Given the description of an element on the screen output the (x, y) to click on. 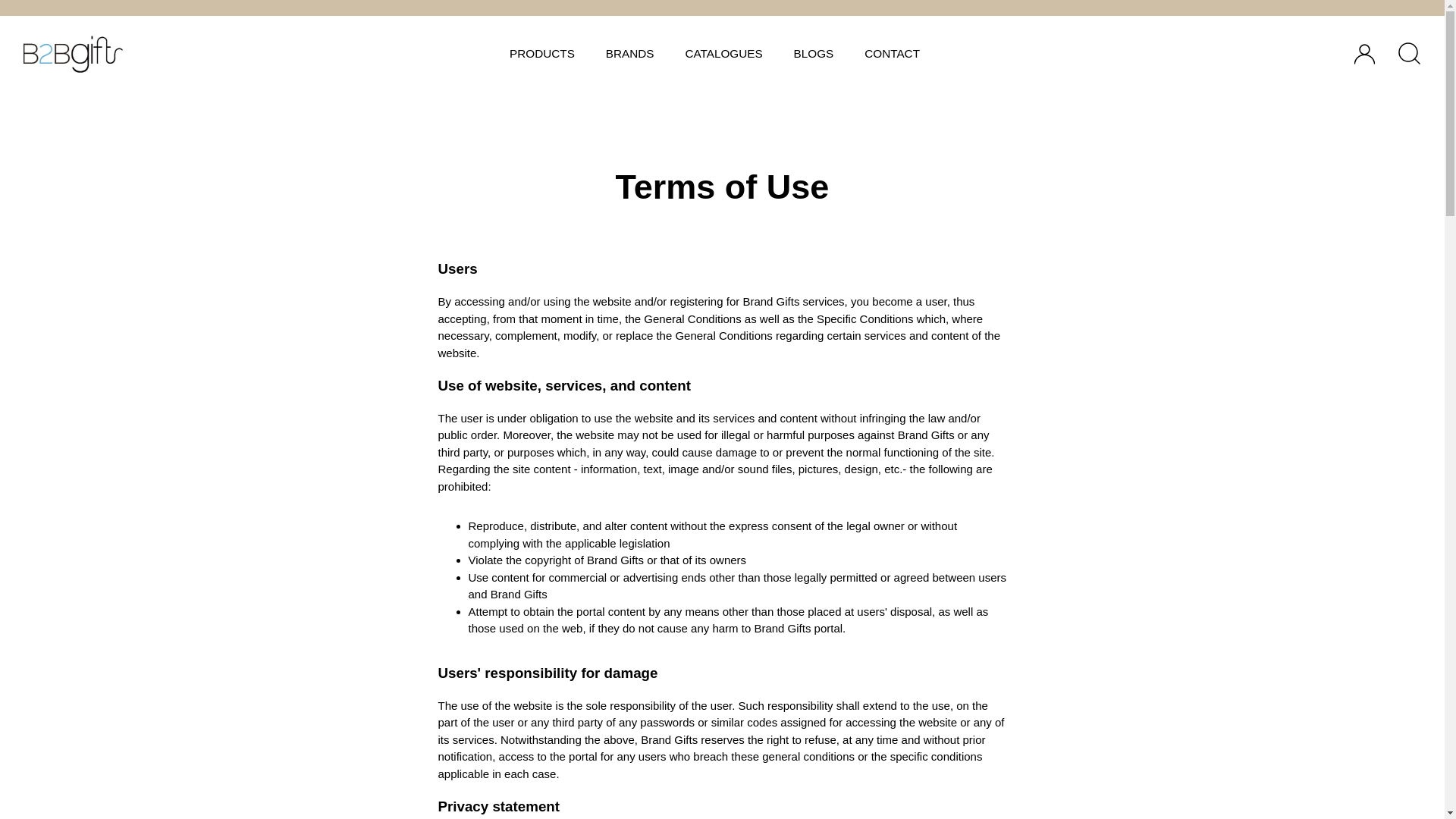
PRODUCTS (542, 53)
CATALOGUES (723, 53)
BLOGS (812, 53)
CONTACT (892, 53)
BRANDS (628, 53)
